Given the description of an element on the screen output the (x, y) to click on. 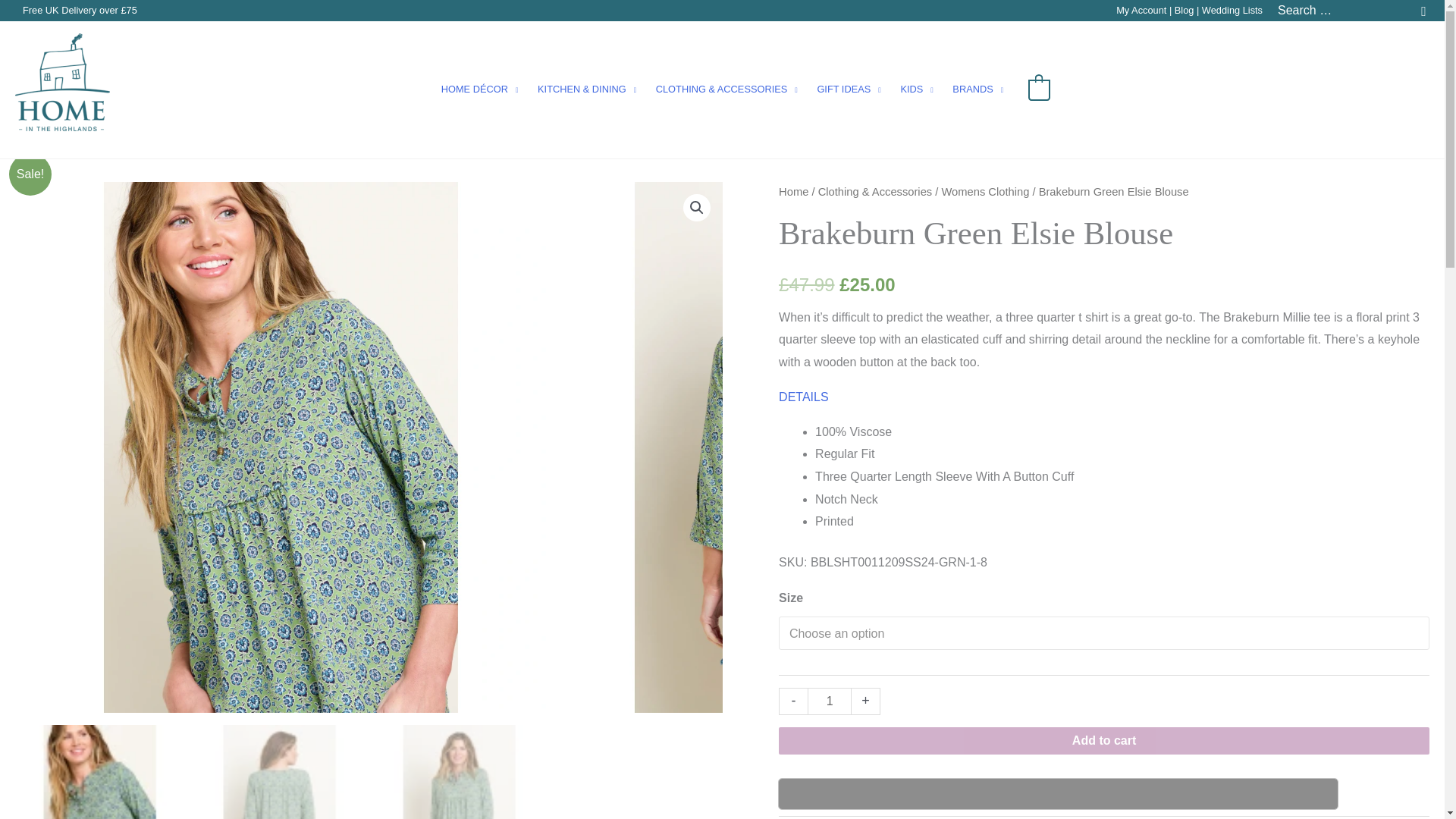
Wedding Lists (1232, 9)
1 (829, 700)
My Account (1141, 9)
Blog (1183, 9)
GIFT IDEAS (849, 89)
